Given the description of an element on the screen output the (x, y) to click on. 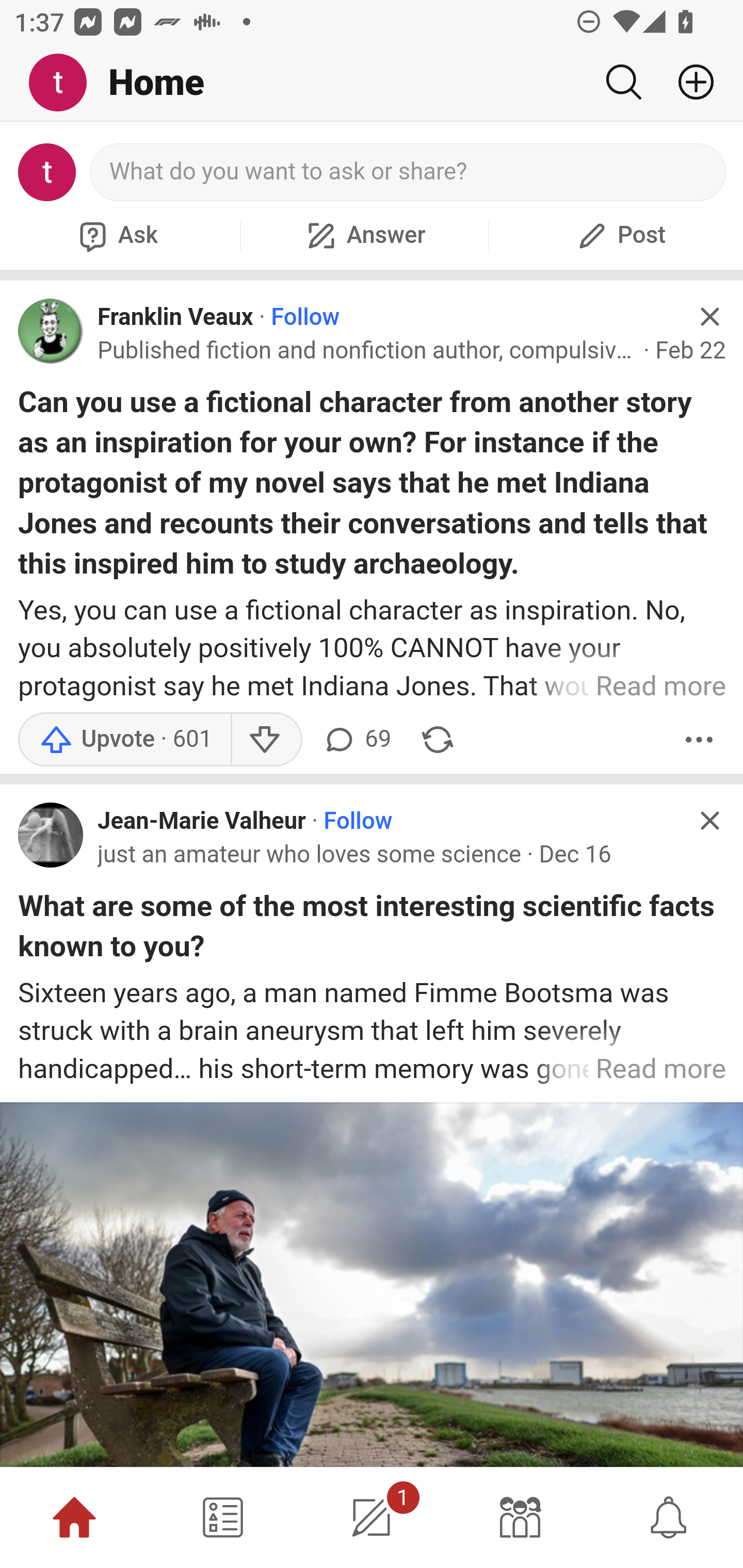
Me (64, 83)
Search (623, 82)
Add (688, 82)
What do you want to ask or share? (408, 172)
Ask (116, 234)
Answer (364, 234)
Post (618, 234)
Hide (709, 316)
Profile photo for Franklin Veaux (50, 330)
Franklin Veaux (175, 316)
Follow (306, 316)
Upvote (124, 739)
Downvote (266, 739)
69 comments (356, 739)
Share (437, 739)
More (699, 739)
Hide (709, 820)
Profile photo for Jean-Marie Valheur (50, 835)
Jean-Marie Valheur (201, 821)
Follow (358, 821)
1 (371, 1517)
